Given the description of an element on the screen output the (x, y) to click on. 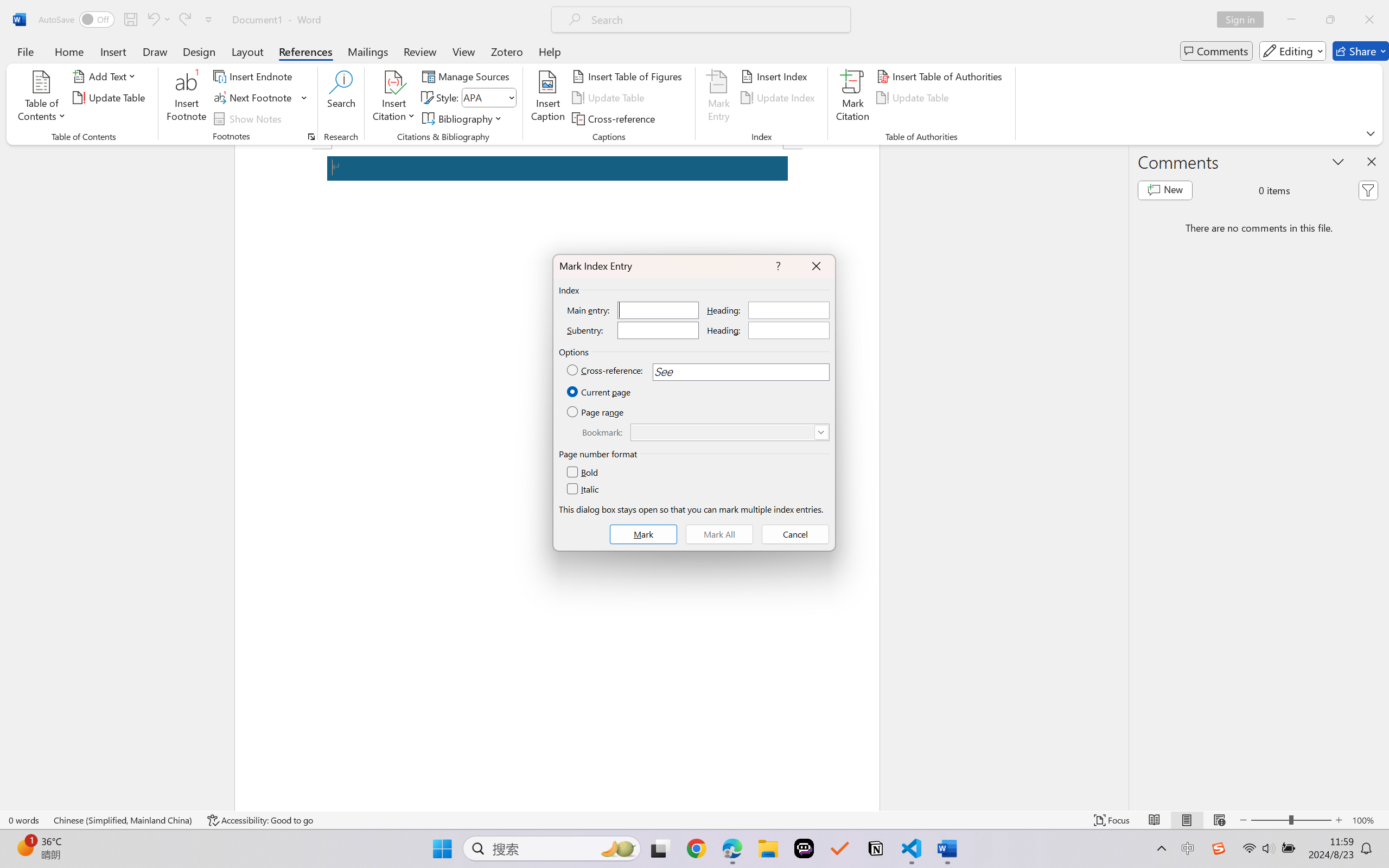
New comment (1165, 190)
Footnote and Endnote Dialog... (311, 136)
Insert Citation (393, 97)
Mark All (719, 534)
Cancel (795, 534)
Cross-reference: (605, 370)
Undo Apply Quick Style Set (158, 19)
Editing (1292, 50)
